Given the description of an element on the screen output the (x, y) to click on. 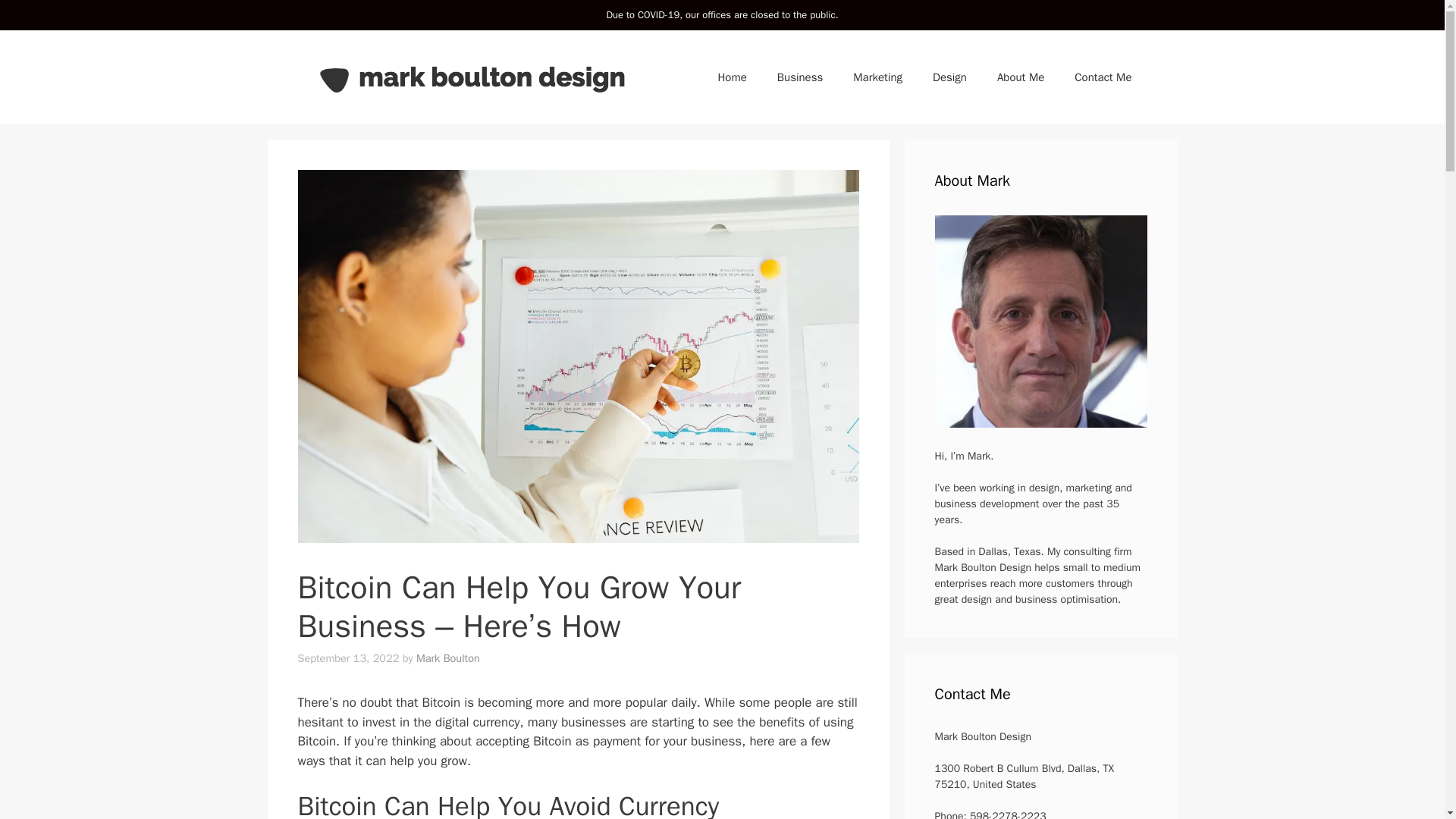
Marketing (877, 76)
Design (949, 76)
Business (799, 76)
Contact Me (1103, 76)
Mark Boulton (448, 658)
About Me (1020, 76)
Home (731, 76)
View all posts by Mark Boulton (448, 658)
